Given the description of an element on the screen output the (x, y) to click on. 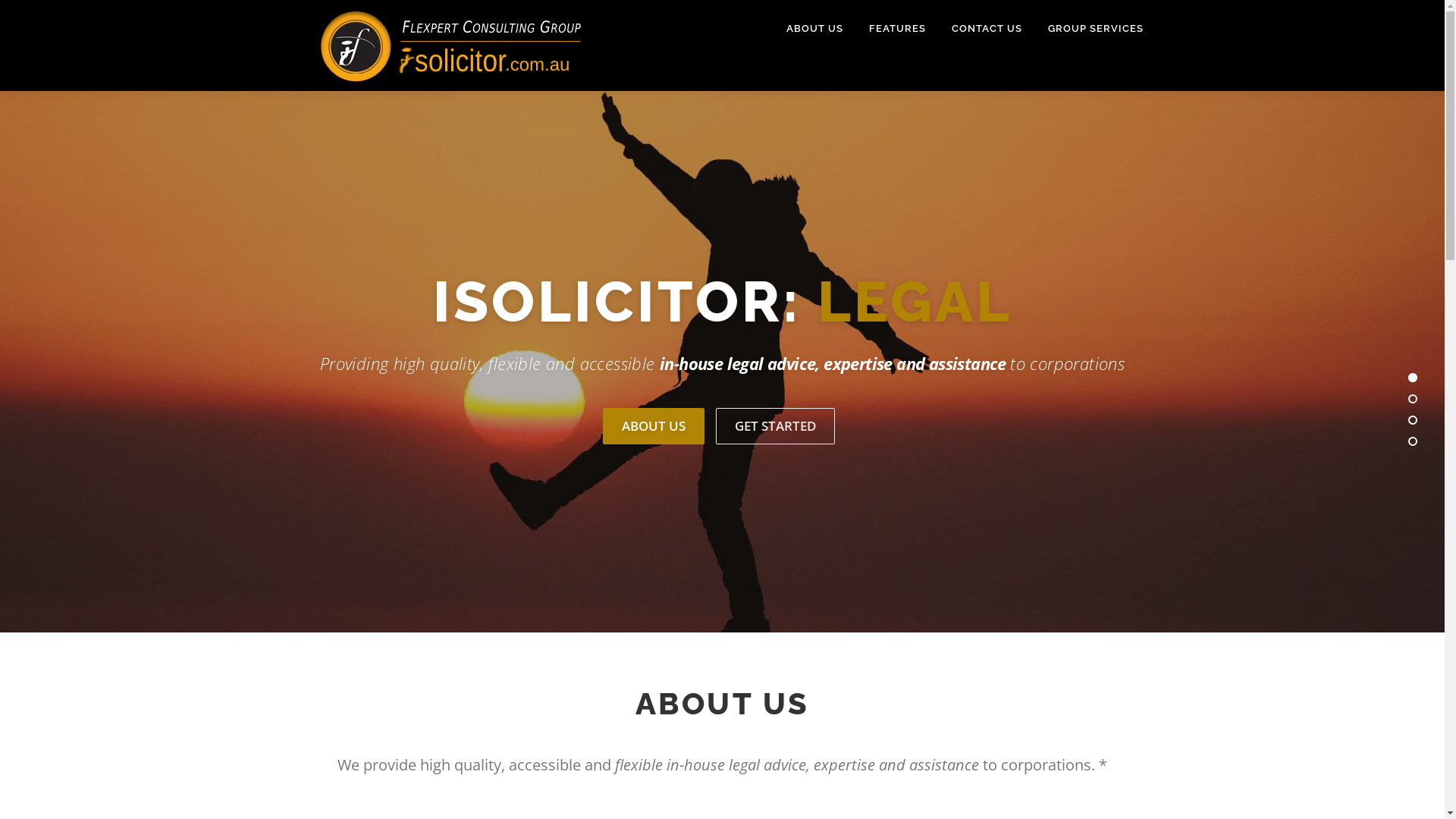
GROUP SERVICES Element type: text (1088, 28)
GET STARTED Element type: text (774, 425)
ABOUT US Element type: text (814, 28)
FEATURES Element type: text (896, 28)
CONTACT US Element type: text (986, 28)
ABOUT US Element type: text (652, 425)
